Given the description of an element on the screen output the (x, y) to click on. 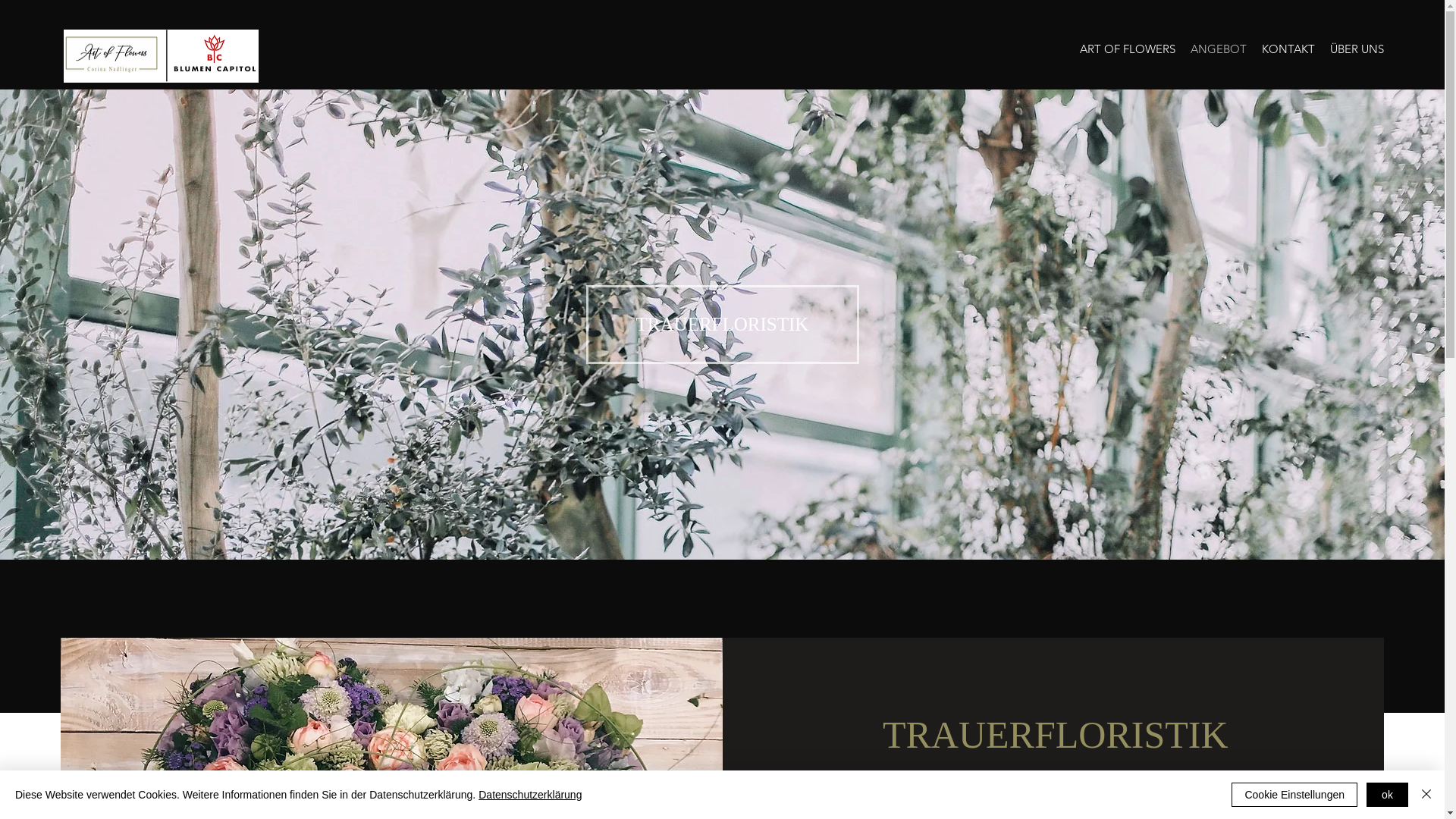
ANGEBOT Element type: text (1218, 48)
ok Element type: text (1387, 794)
KONTAKT Element type: text (1288, 48)
ART OF FLOWERS Element type: text (1127, 48)
TRAUERFLORISTIK Element type: text (721, 324)
Cookie Einstellungen Element type: text (1294, 794)
